Given the description of an element on the screen output the (x, y) to click on. 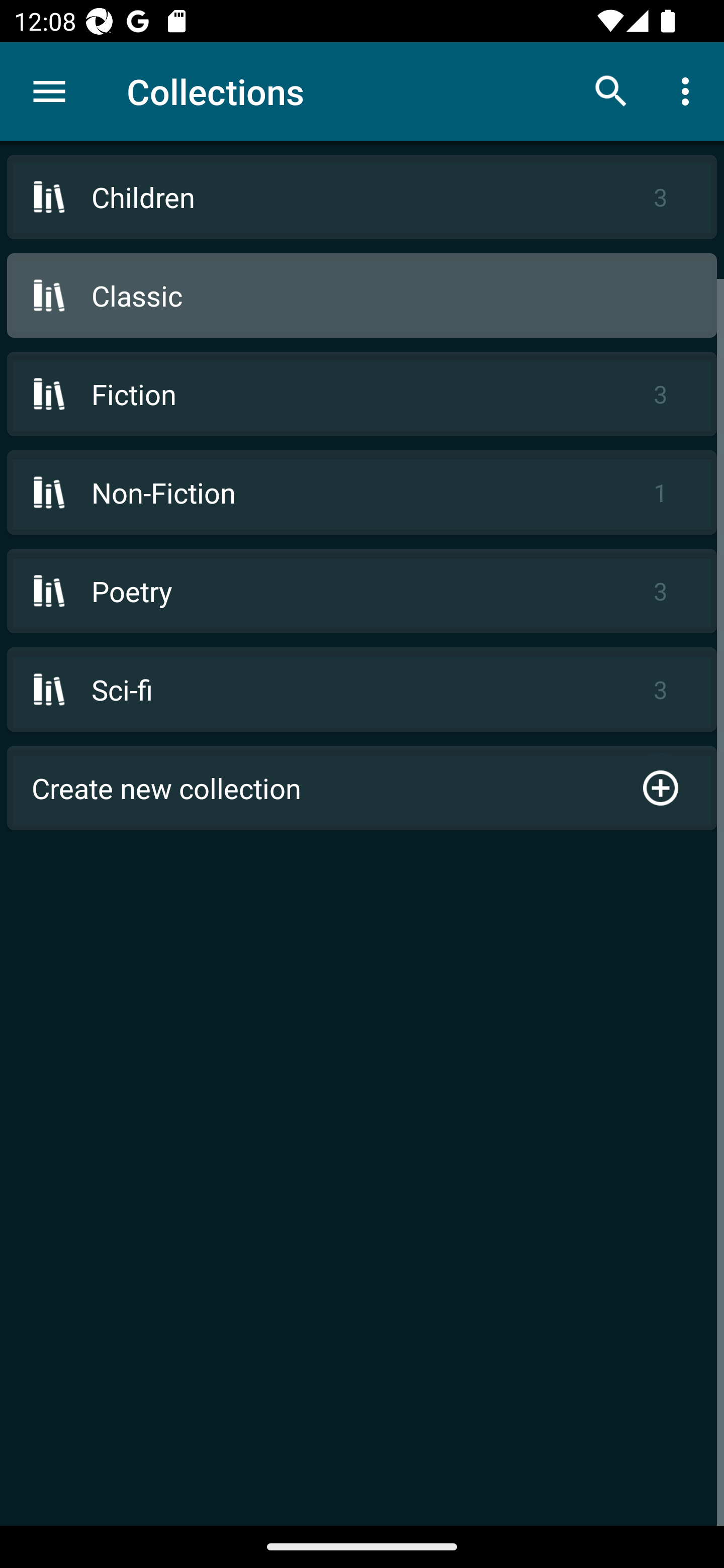
Menu (49, 91)
Search books & documents (611, 90)
More options (688, 90)
Children 3 (361, 197)
Classic (361, 295)
Fiction 3 (361, 393)
Non-Fiction 1 (361, 492)
Poetry 3 (361, 590)
Sci-fi 3 (361, 689)
Create new collection (361, 787)
